Given the description of an element on the screen output the (x, y) to click on. 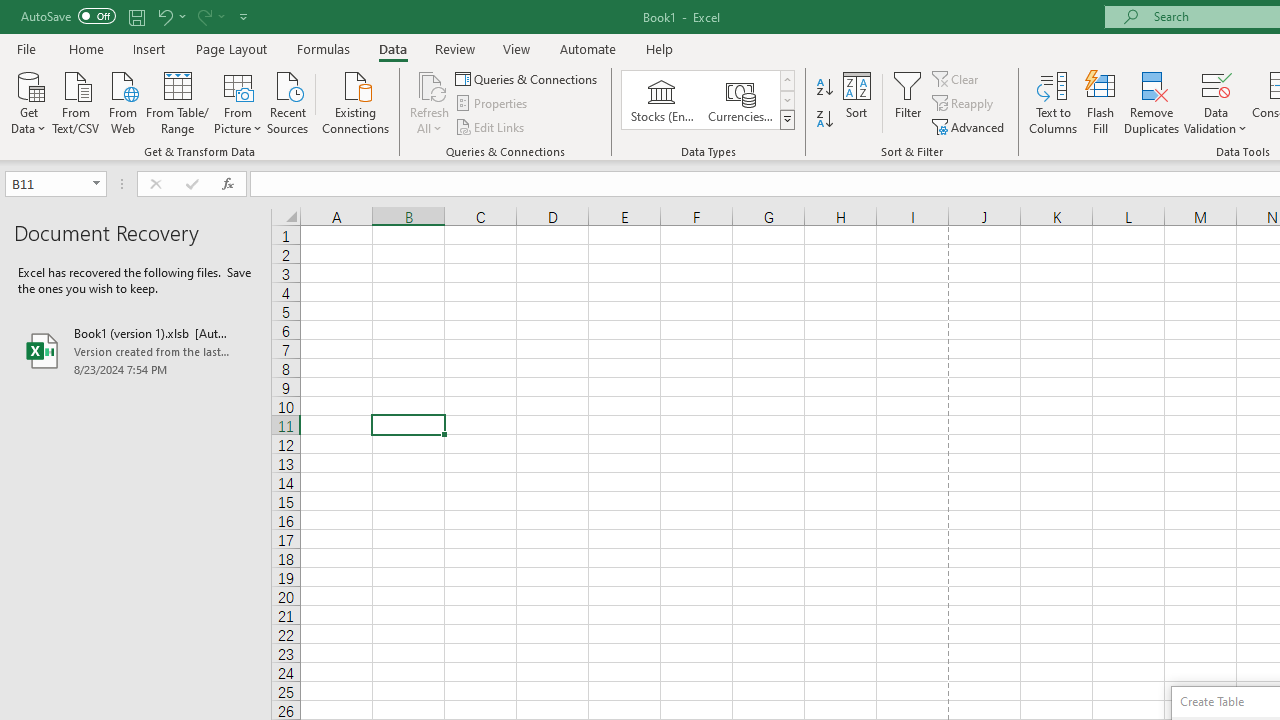
Data Types (786, 120)
From Web (122, 101)
Advanced... (970, 126)
Remove Duplicates (1151, 102)
Sort Z to A (824, 119)
From Text/CSV (75, 101)
From Picture (238, 101)
Properties (492, 103)
From Table/Range (177, 101)
